Given the description of an element on the screen output the (x, y) to click on. 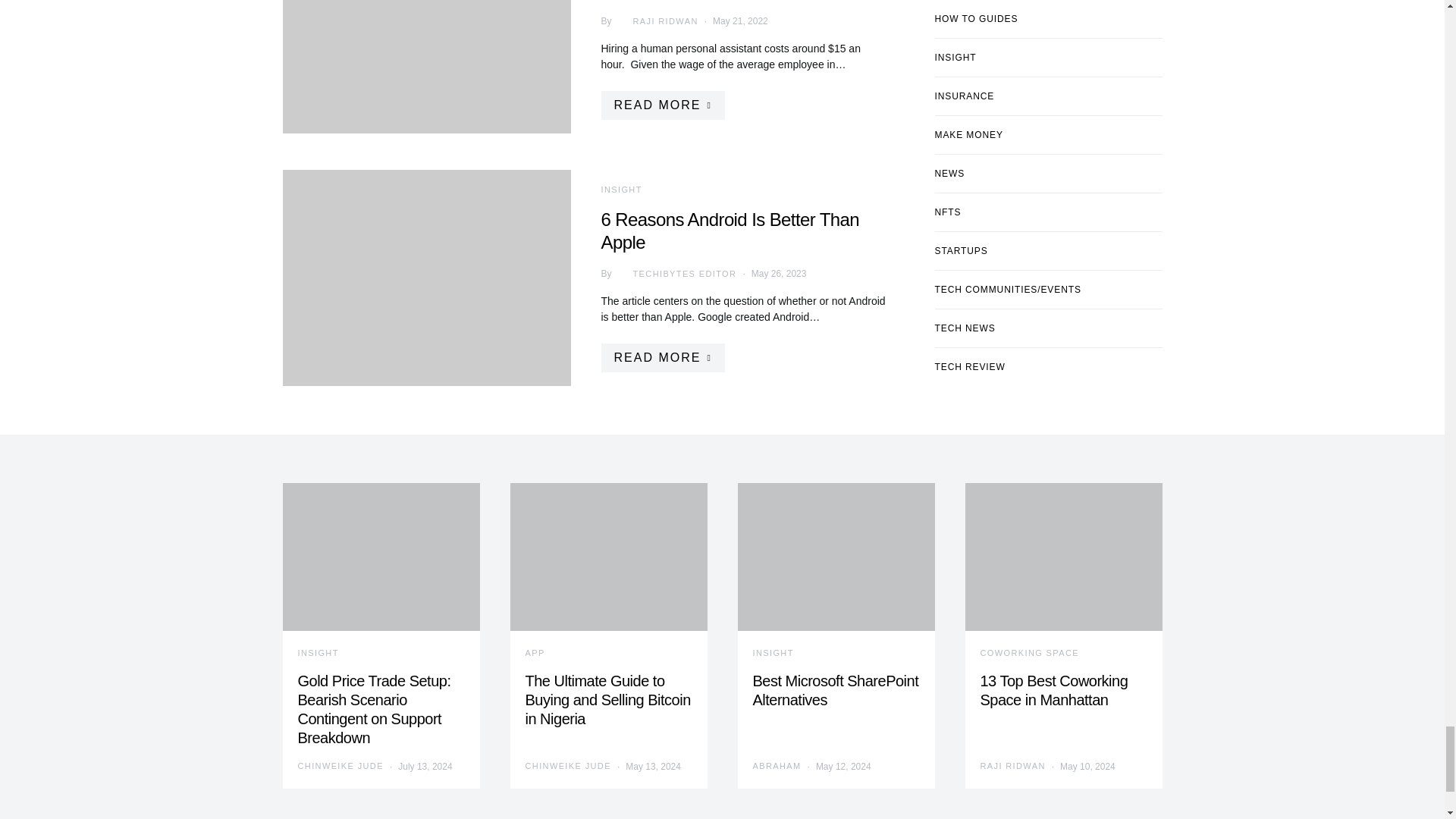
View all posts by Raji Ridwan (654, 20)
Best Unique Productive Personal Assistant Apps 9 (426, 66)
6 Reasons Android Is Better Than Apple 10 (426, 277)
